Given the description of an element on the screen output the (x, y) to click on. 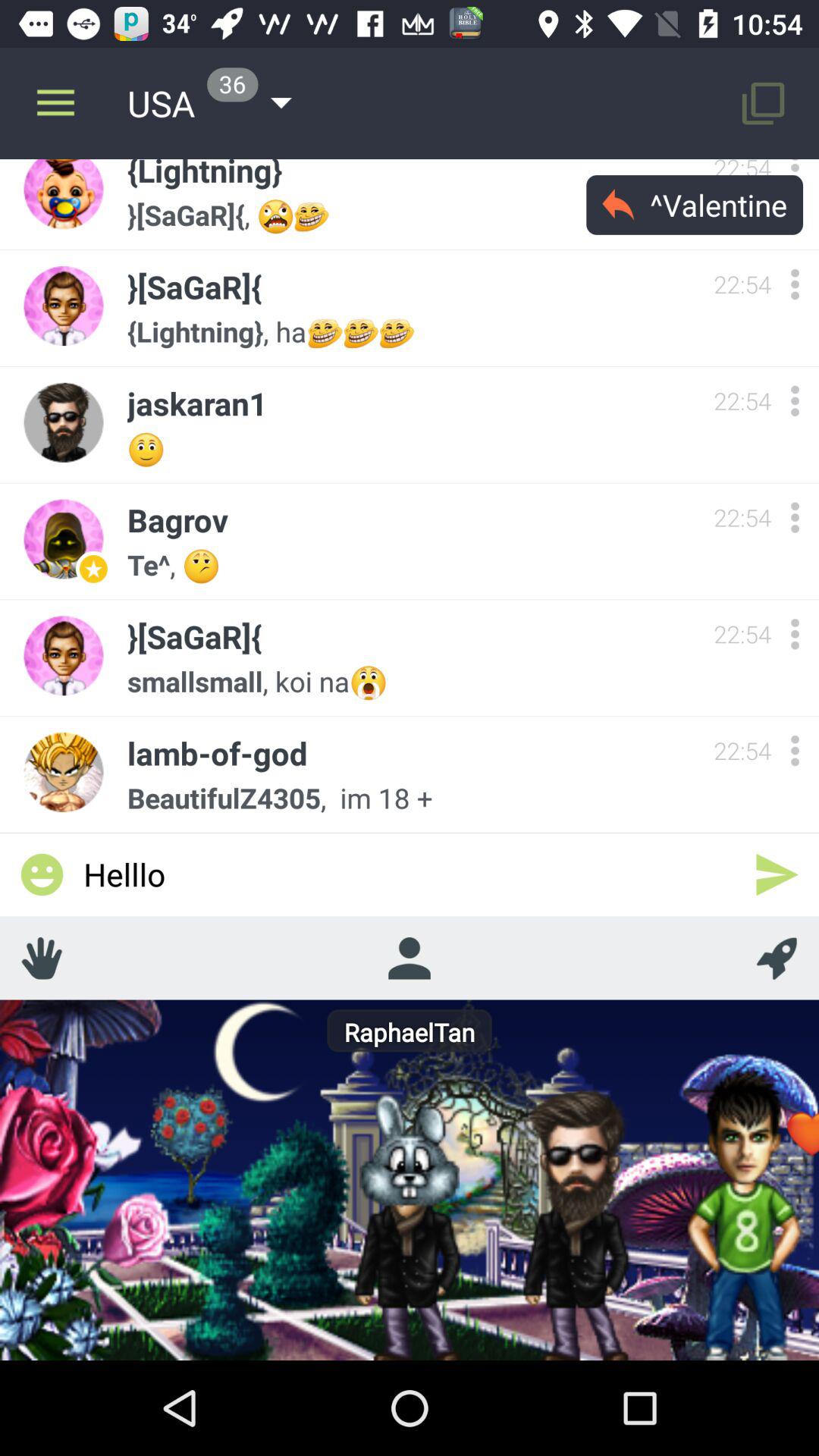
turn on the icon below beautifulz4305,  im 18 + icon (777, 874)
